Given the description of an element on the screen output the (x, y) to click on. 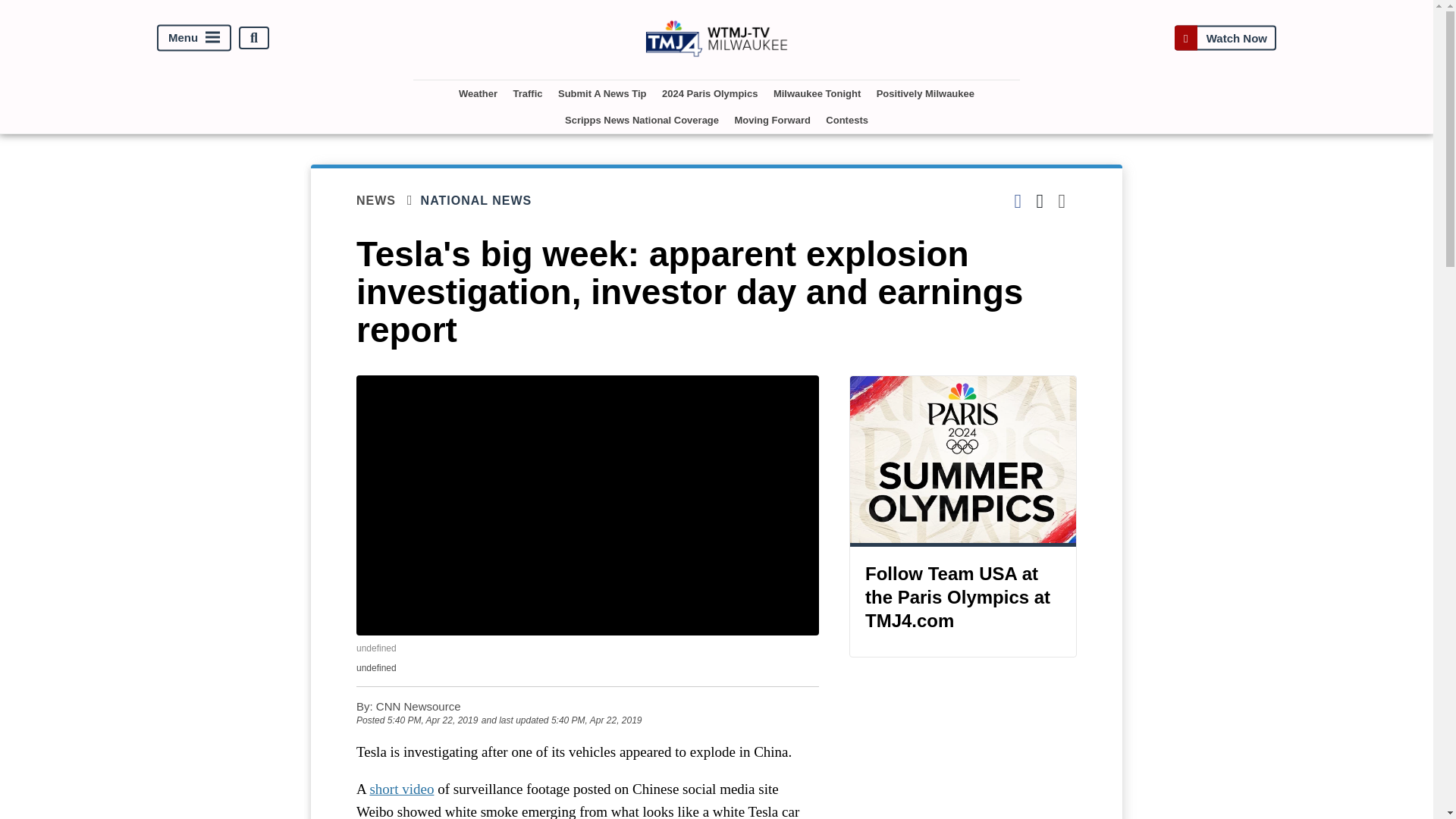
Watch Now (1224, 38)
Menu (194, 38)
